Given the description of an element on the screen output the (x, y) to click on. 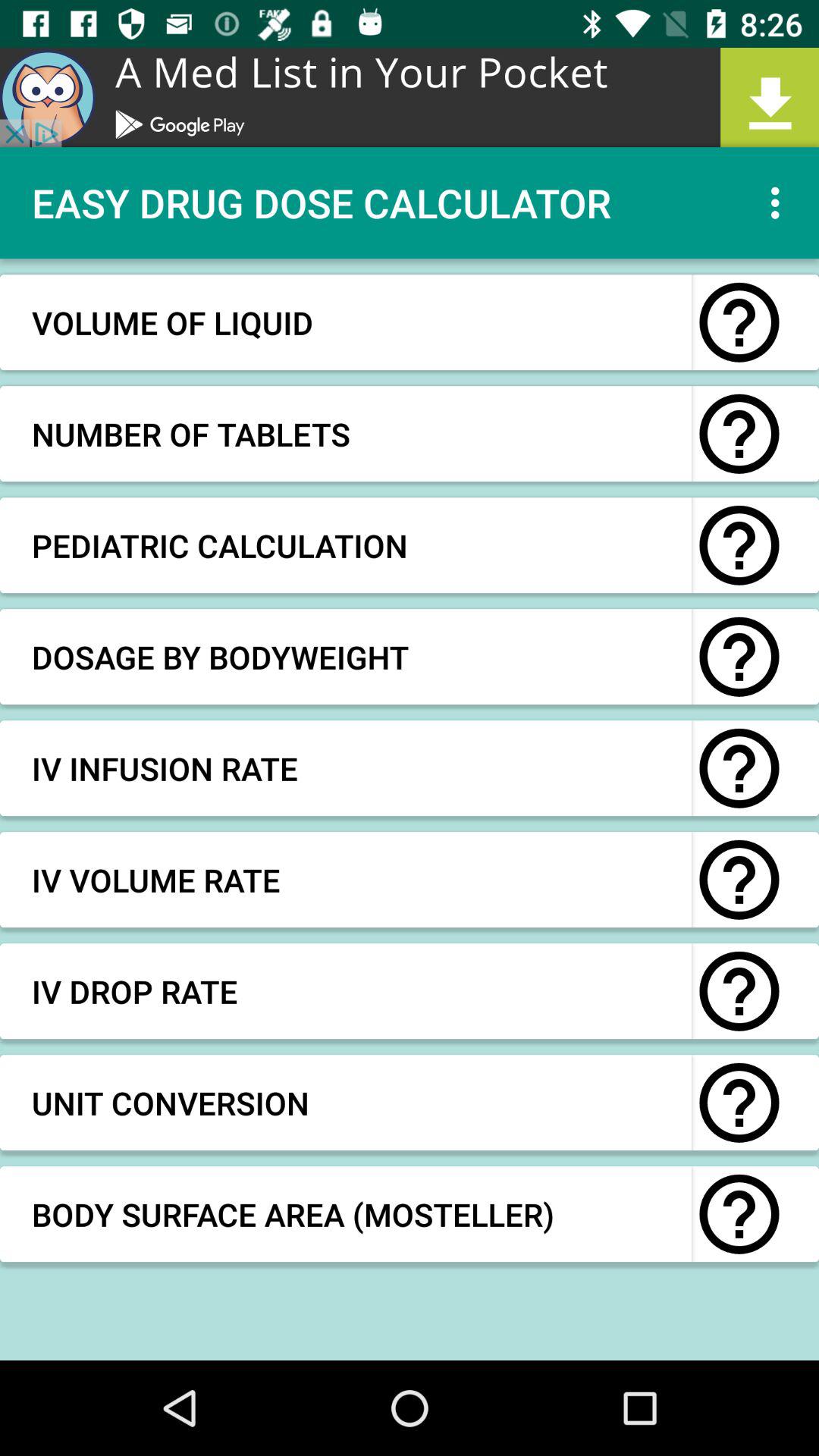
more information (739, 322)
